Given the description of an element on the screen output the (x, y) to click on. 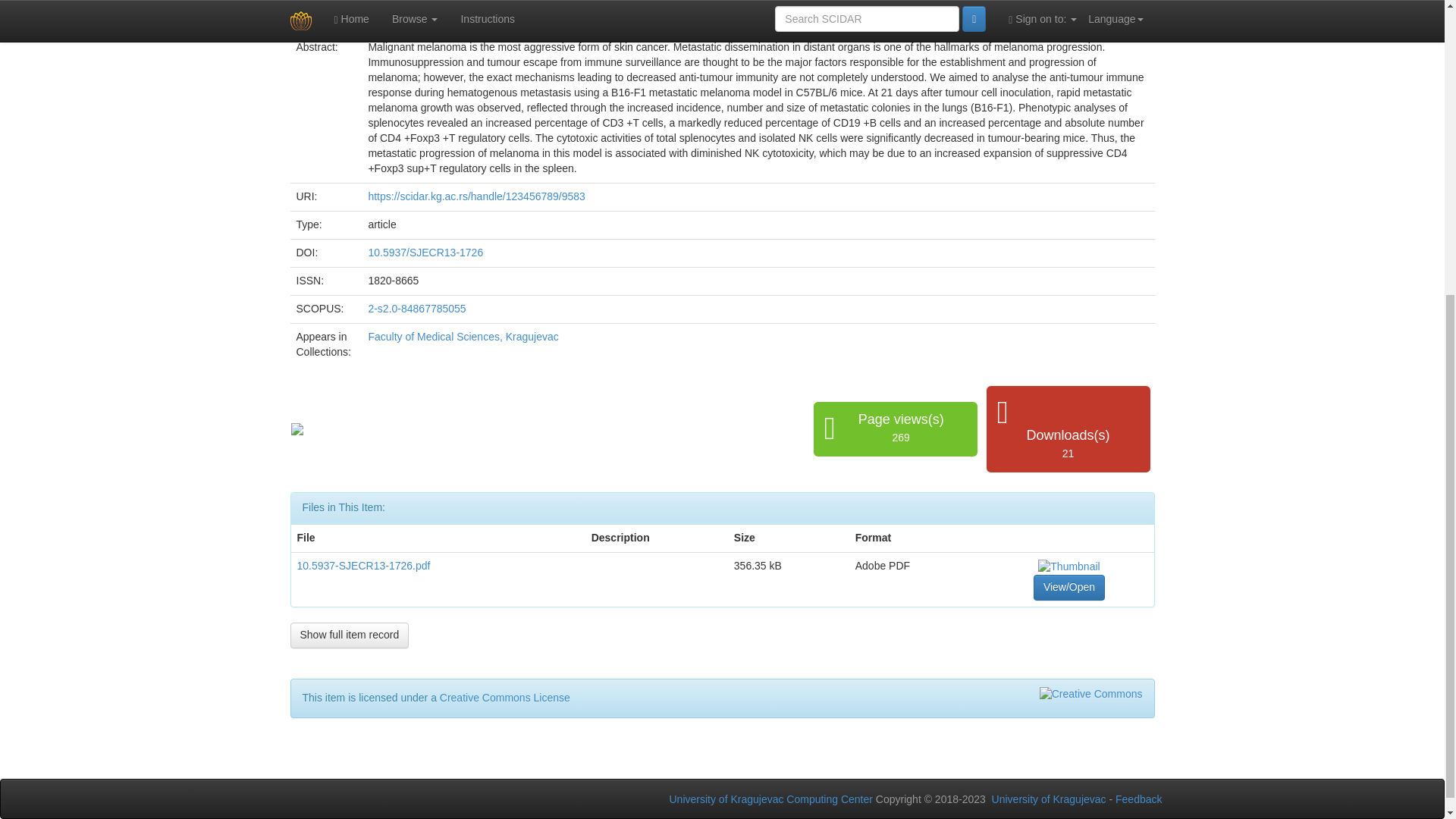
Google Scholar (296, 428)
